Given the description of an element on the screen output the (x, y) to click on. 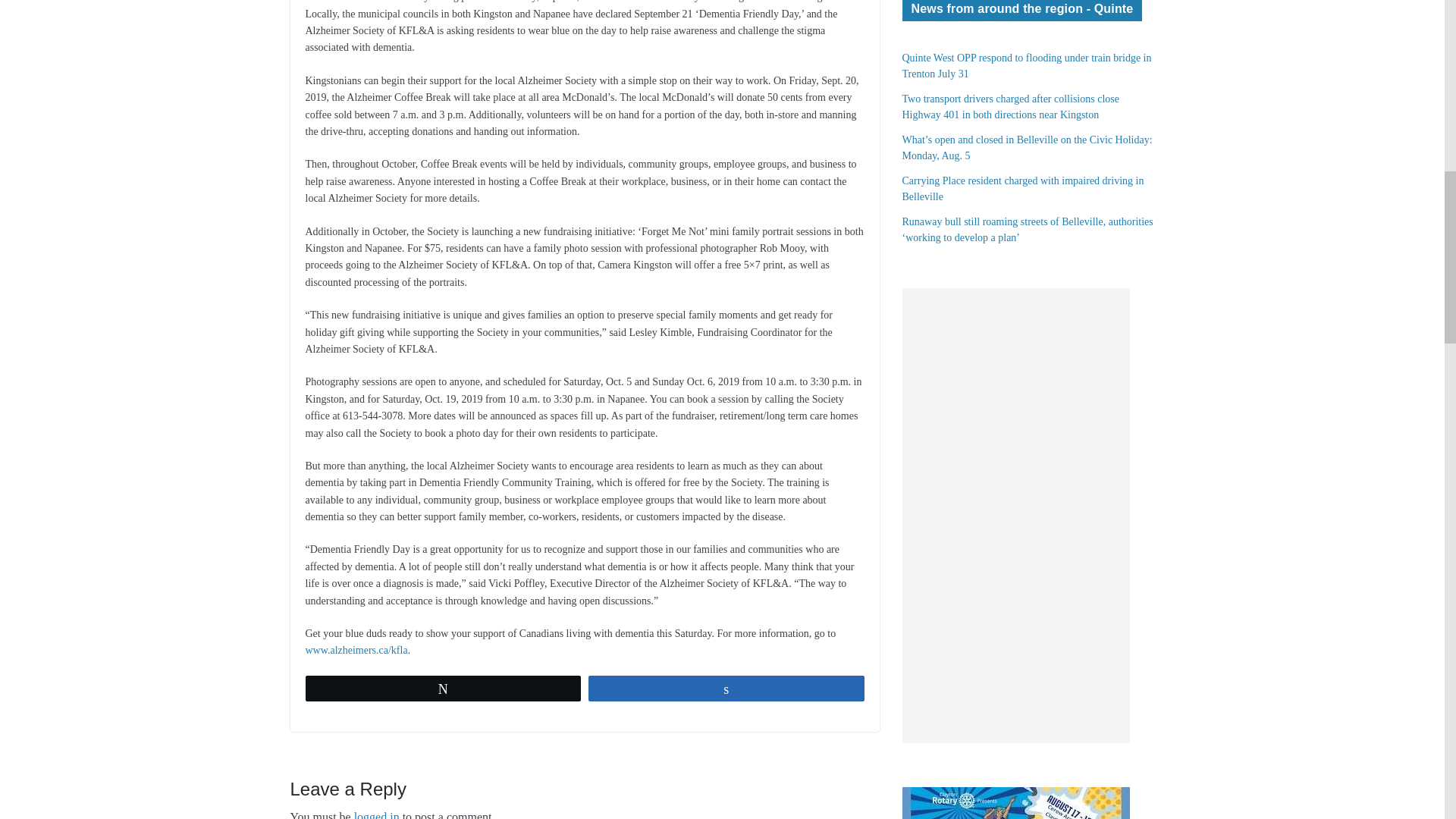
logged in (375, 814)
